Given the description of an element on the screen output the (x, y) to click on. 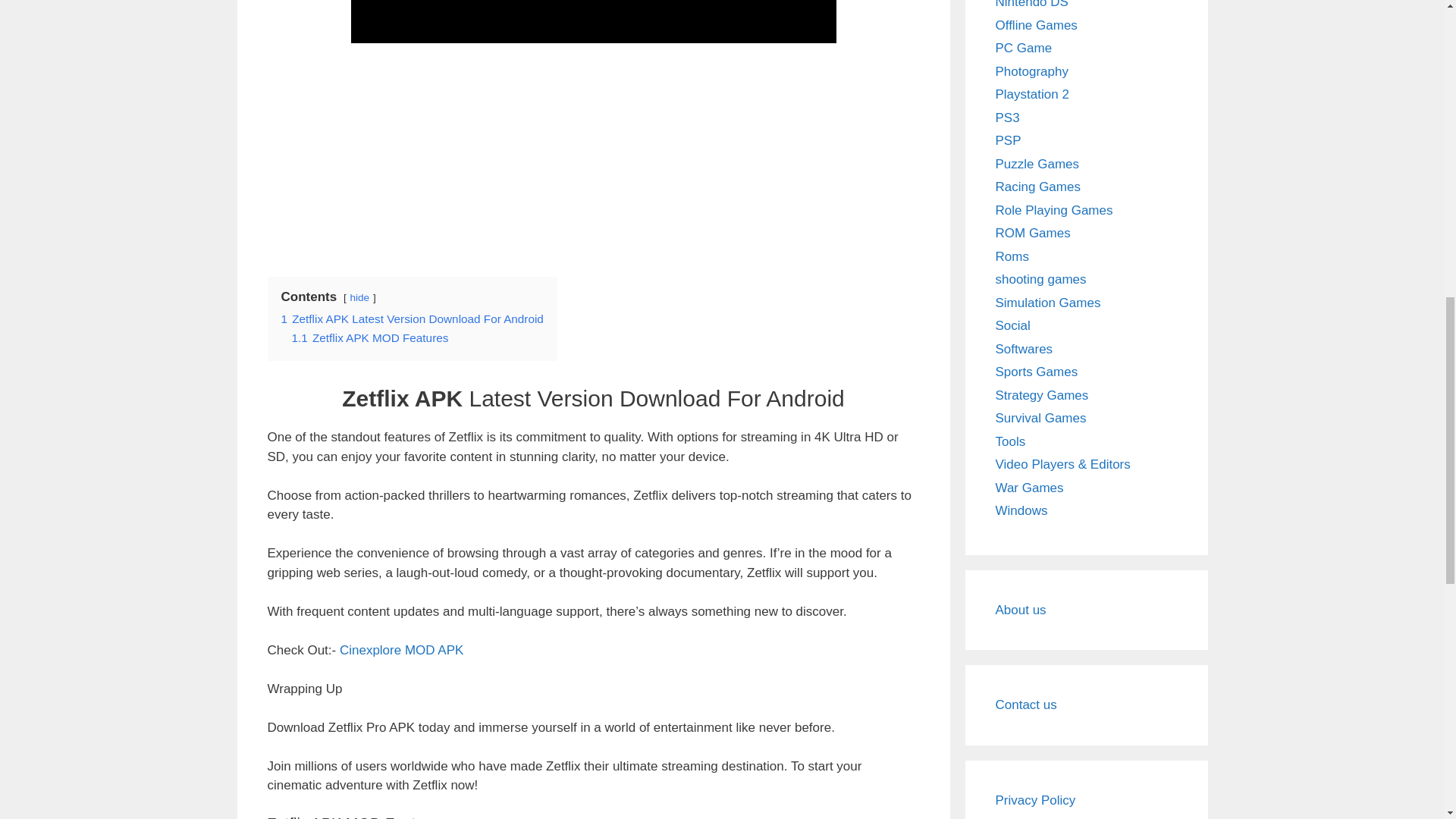
1.1 Zetflix APK MOD Features (369, 337)
hide (359, 297)
Cinexplore MOD APK (401, 649)
Zetflix APK Latest Version Download For Android 1 (592, 21)
1 Zetflix APK Latest Version Download For Android (412, 318)
